Given the description of an element on the screen output the (x, y) to click on. 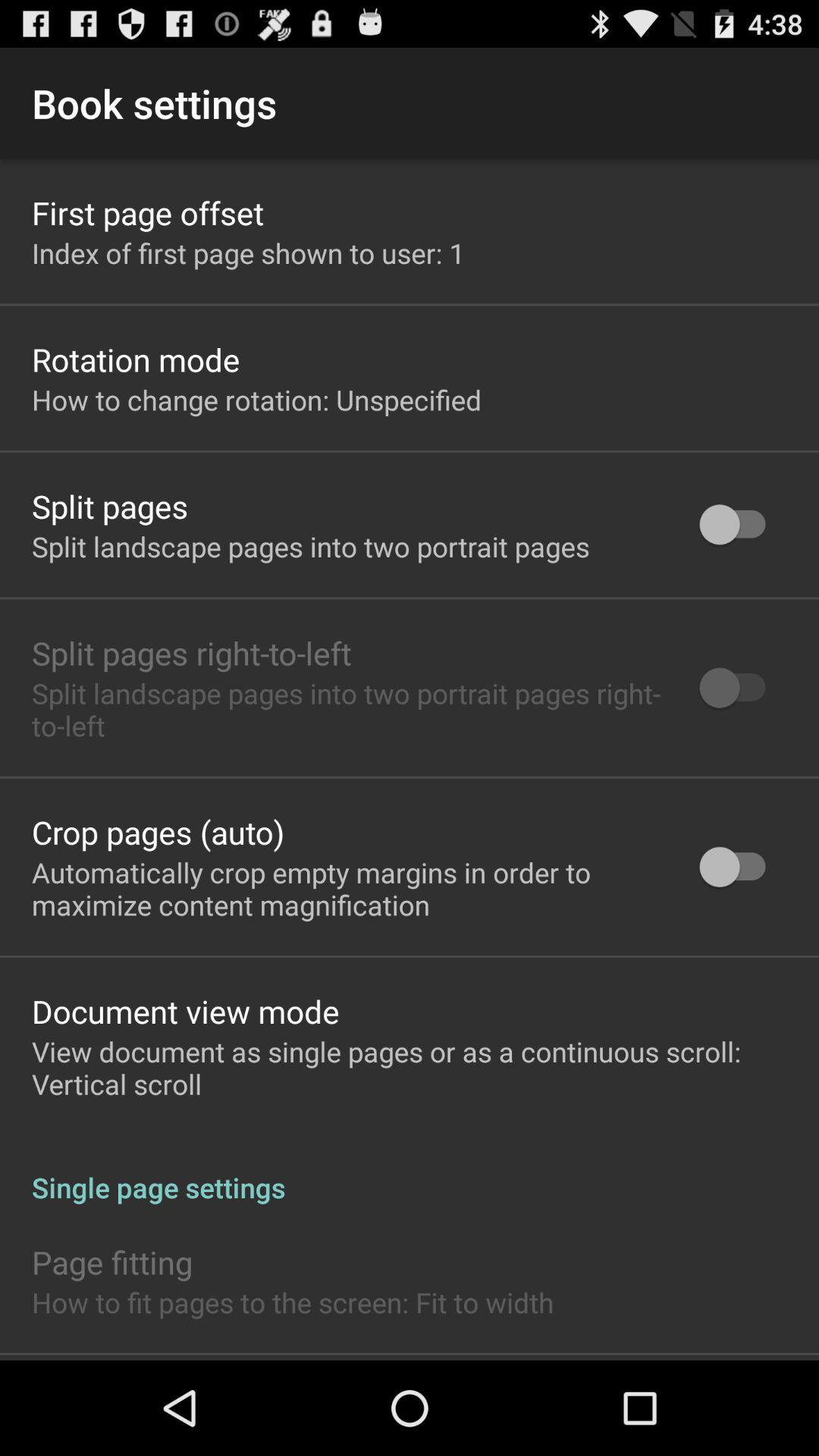
scroll to single page settings item (409, 1171)
